Given the description of an element on the screen output the (x, y) to click on. 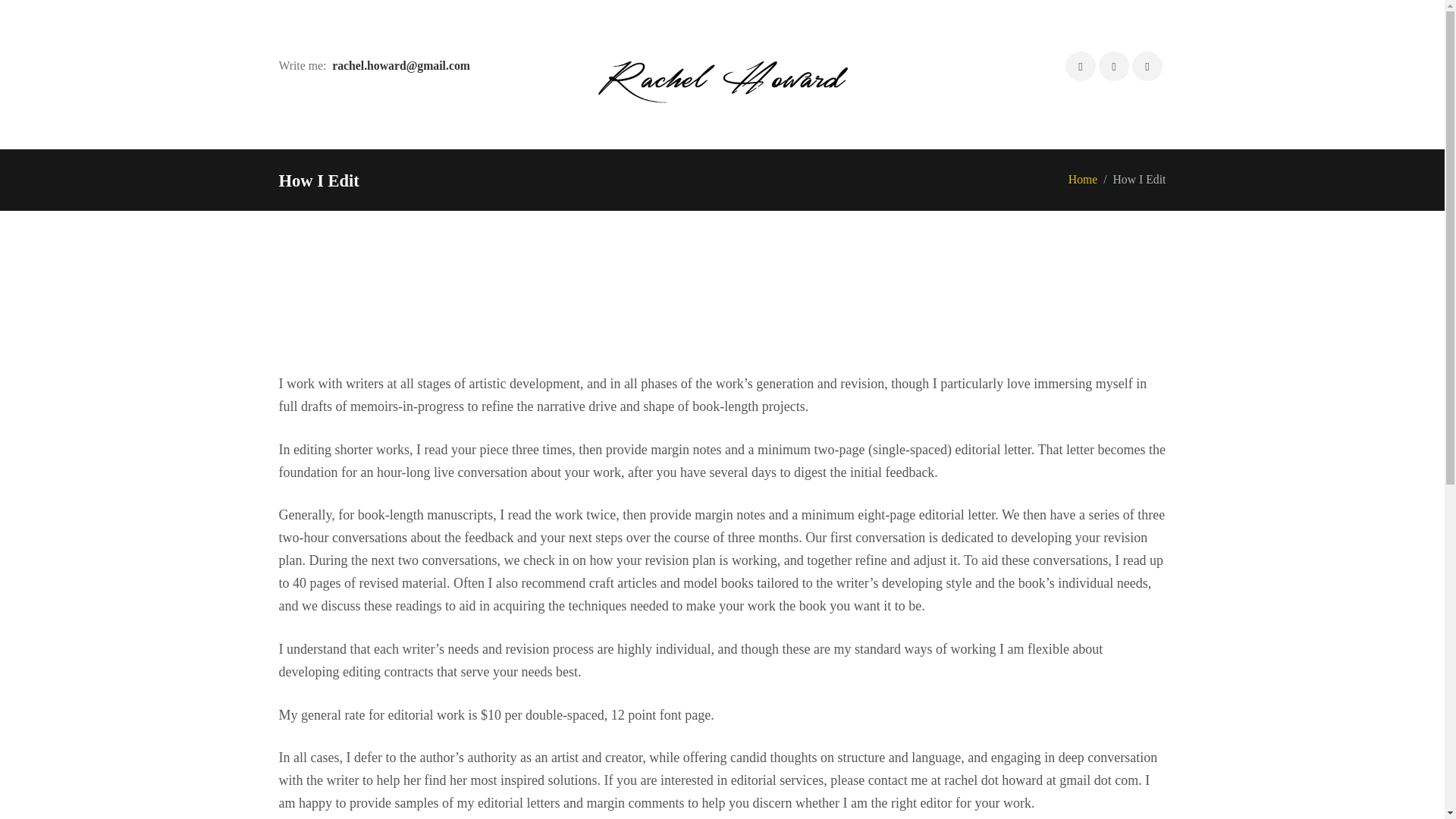
Home (1082, 179)
